Given the description of an element on the screen output the (x, y) to click on. 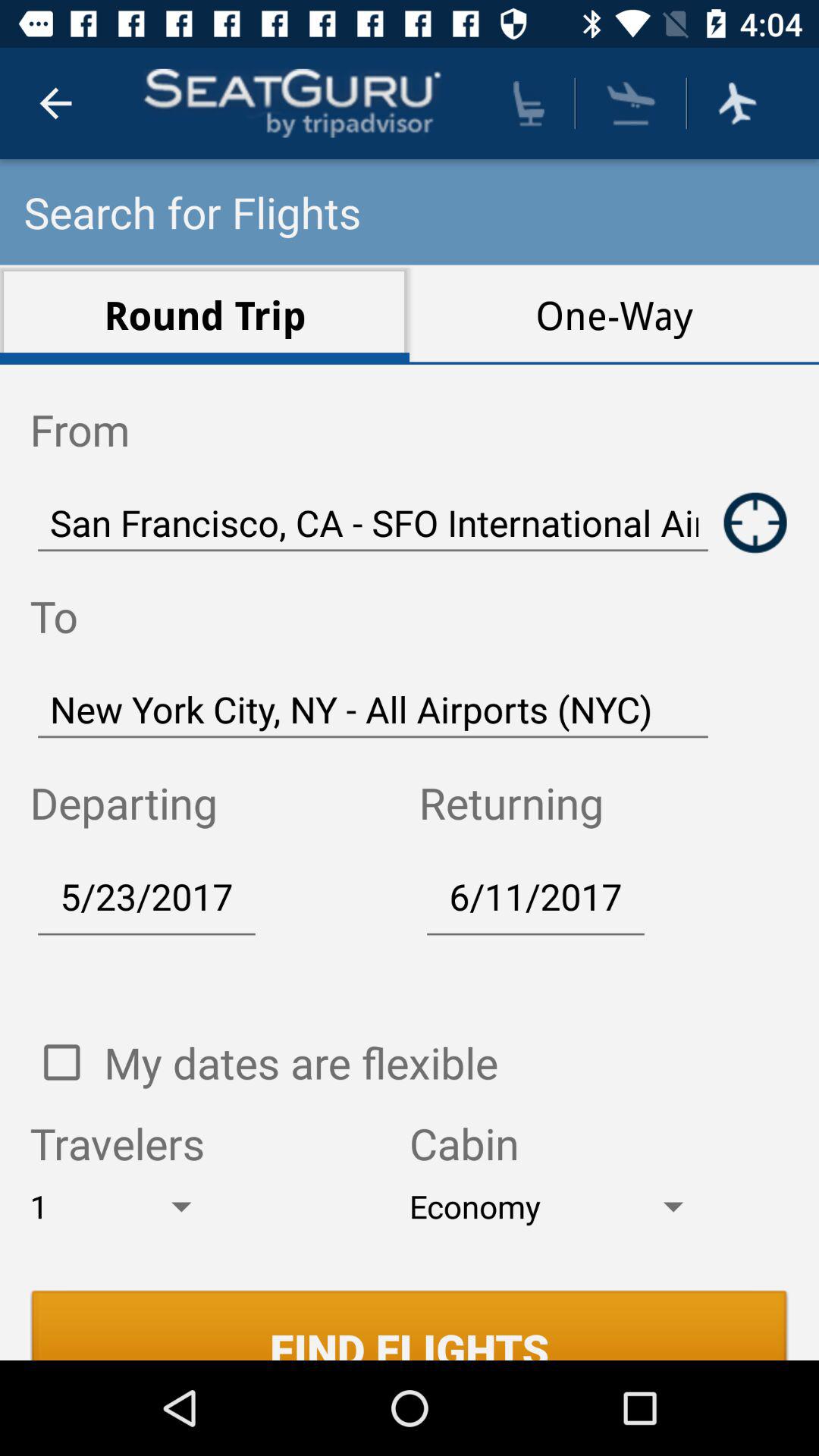
tap 6/11/2017 (535, 895)
